Given the description of an element on the screen output the (x, y) to click on. 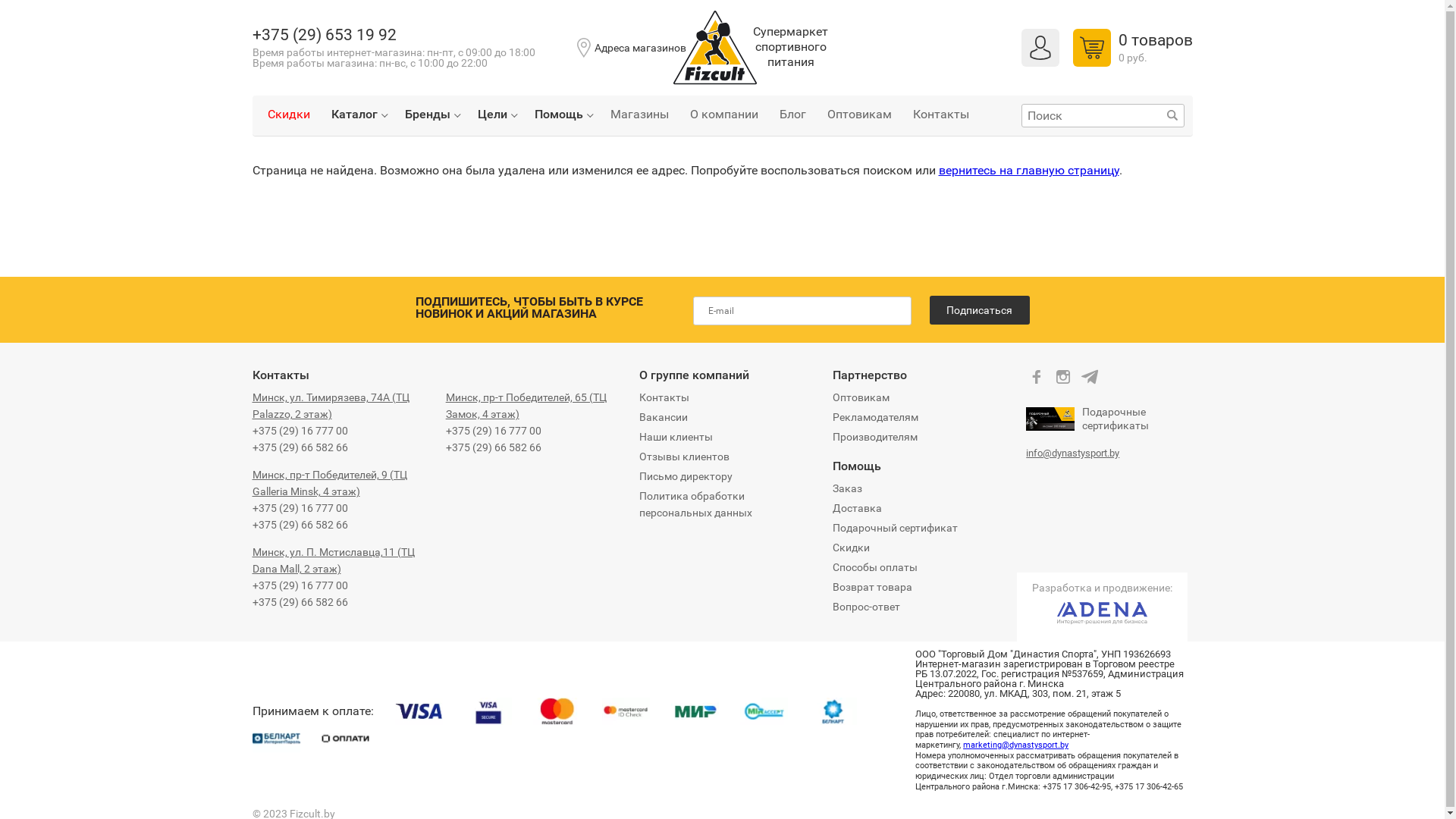
+375 (29) 66 582 66 Element type: text (493, 447)
info@dynastysport.by Element type: text (1072, 452)
+375 (29) 66 582 66 Element type: text (299, 602)
+375 (29) 66 582 66 Element type: text (299, 524)
+375 (29) 66 582 66 Element type: text (299, 447)
marketing@dynastysport.by Element type: text (1015, 744)
+375 (29) 16 777 00 Element type: text (299, 430)
+375 (29) 16 777 00 Element type: text (299, 585)
+375 (29) 16 777 00 Element type: text (493, 430)
+375 (29) 653 19 92 Element type: text (323, 35)
+375 (29) 16 777 00 Element type: text (299, 508)
